Given the description of an element on the screen output the (x, y) to click on. 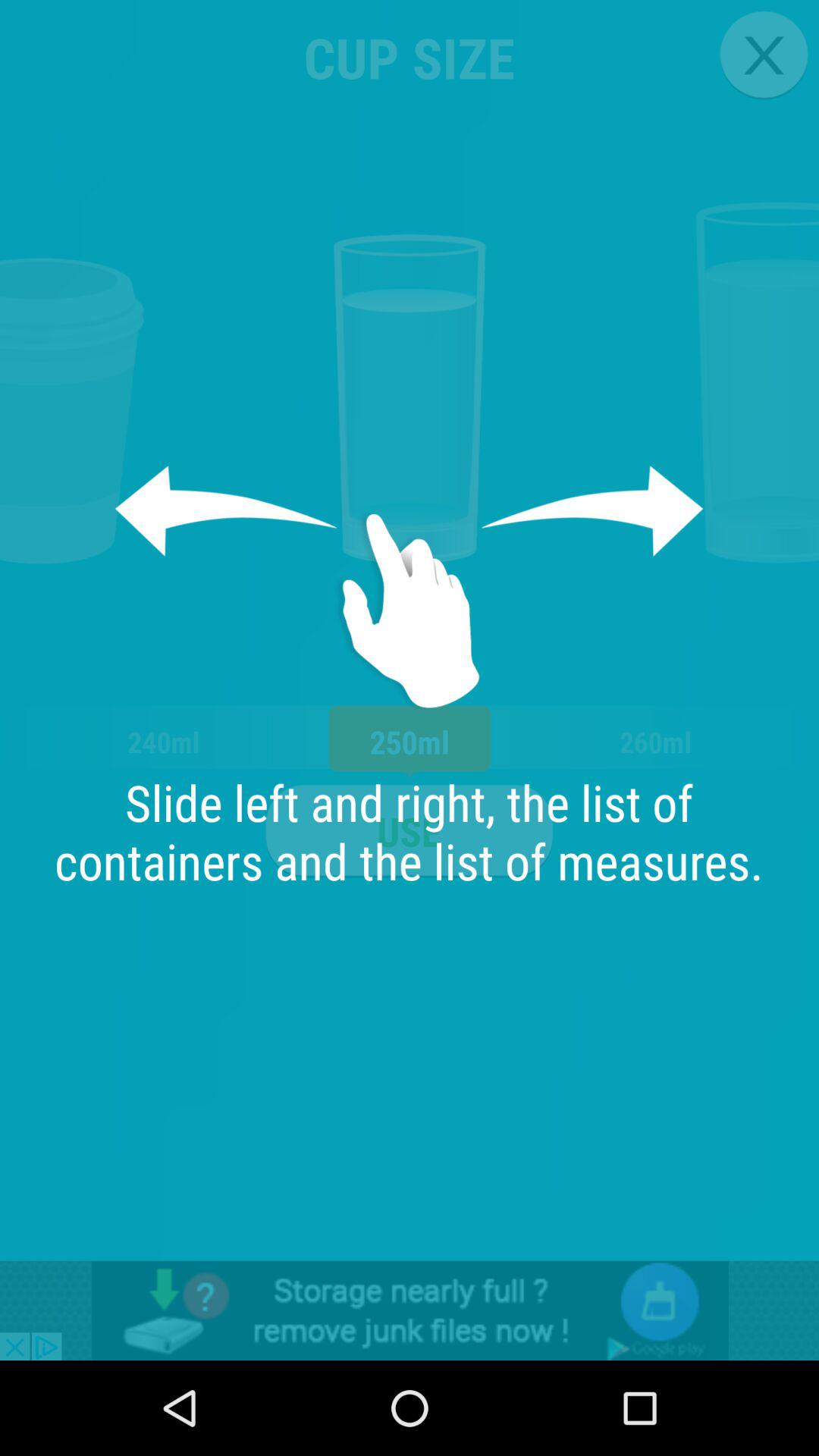
turn off icon below the 250ml (408, 830)
